Given the description of an element on the screen output the (x, y) to click on. 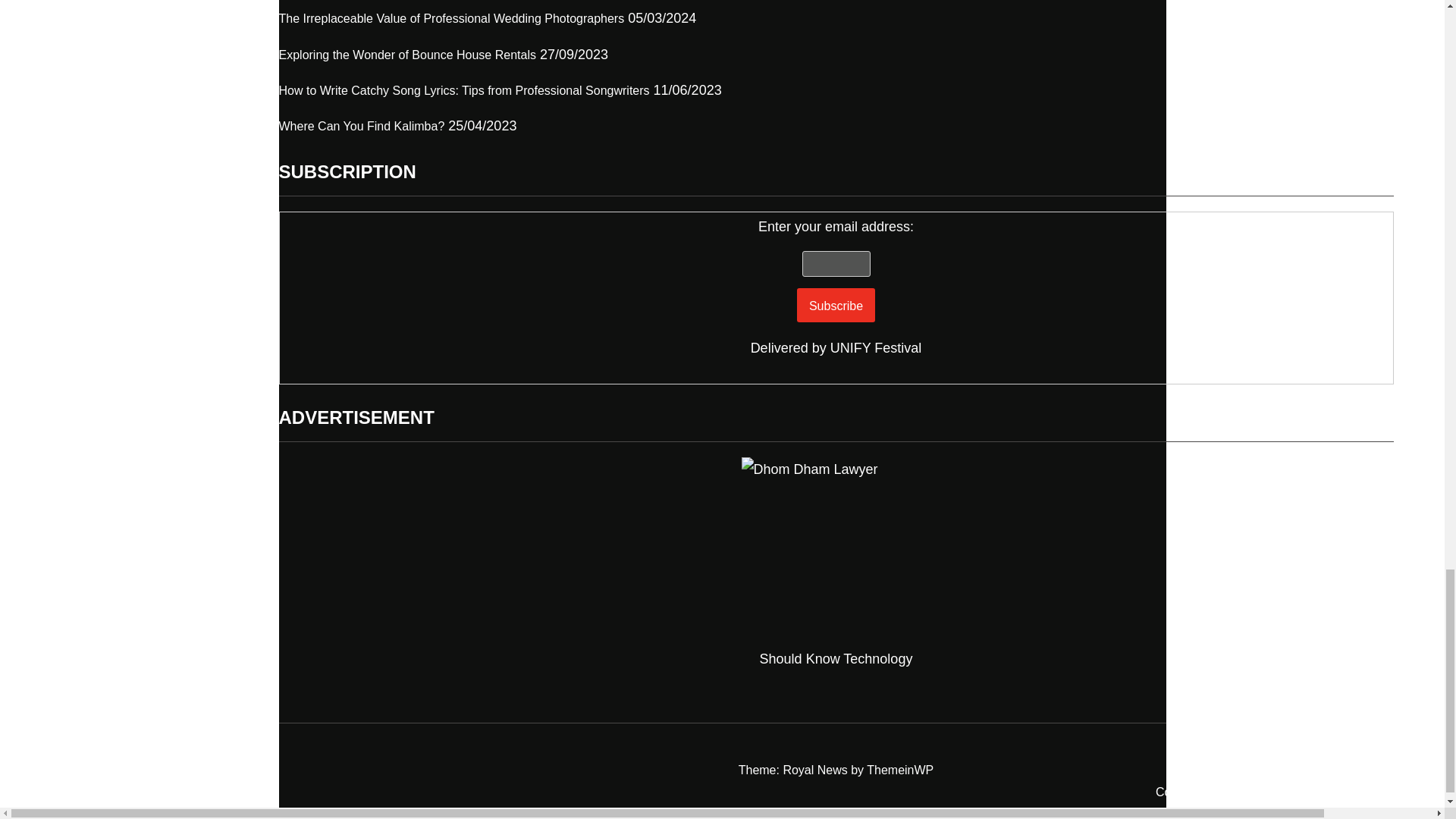
Subscribe (835, 305)
Dhom Dham Lawyer (836, 552)
